Given the description of an element on the screen output the (x, y) to click on. 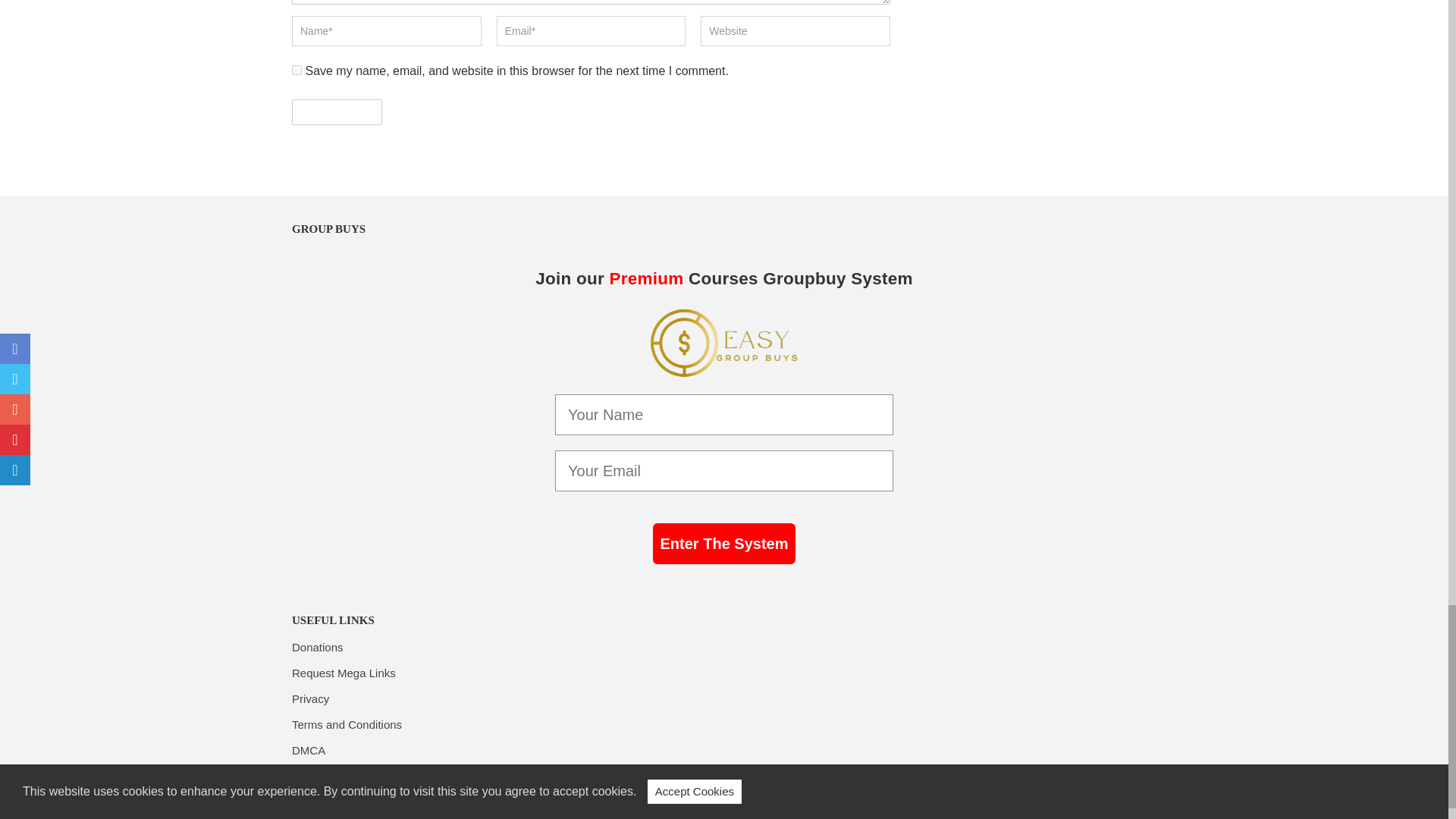
yes (296, 70)
Post Comment (336, 112)
